Given the description of an element on the screen output the (x, y) to click on. 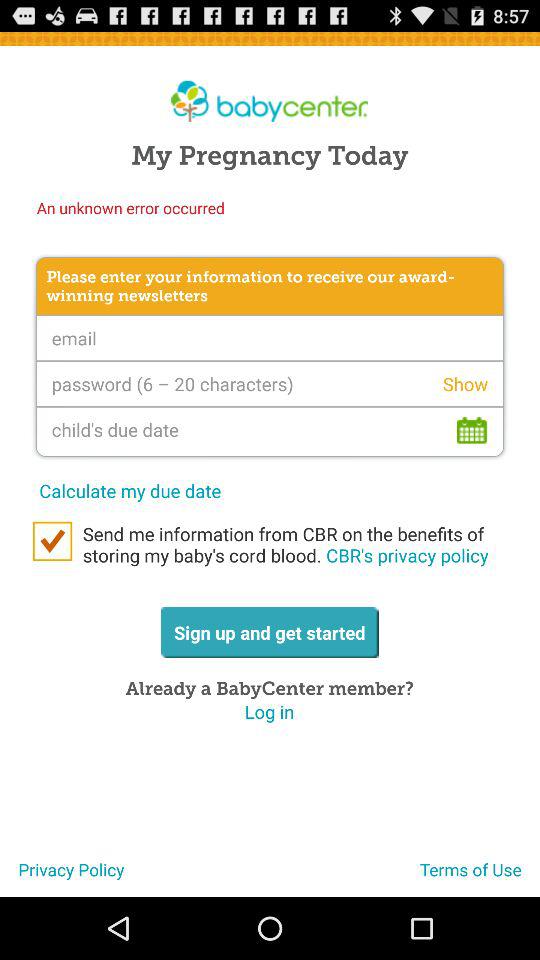
press the item above already a babycenter (269, 632)
